Given the description of an element on the screen output the (x, y) to click on. 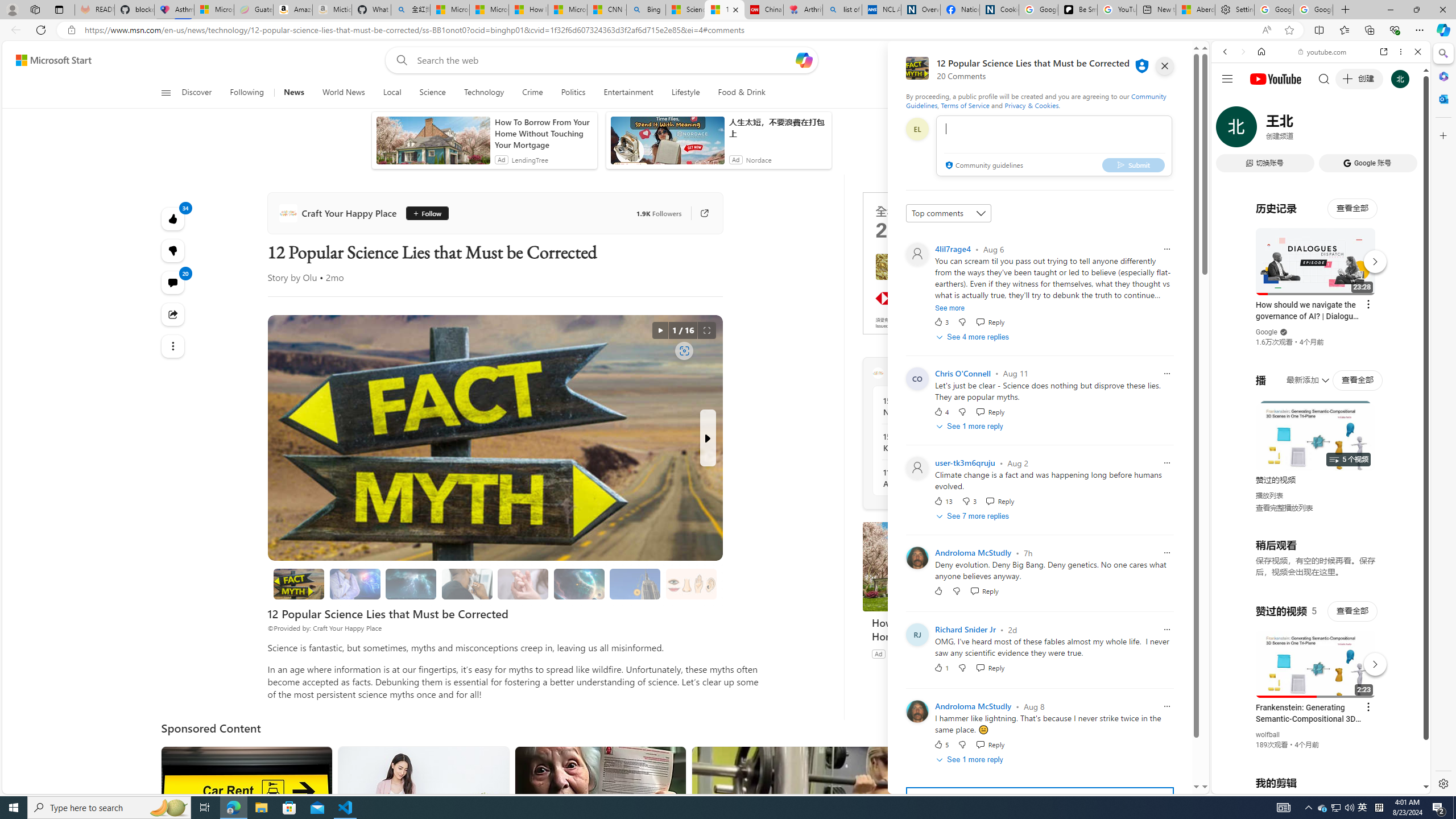
#you (1315, 659)
LendingTree (907, 653)
Knuckle Cracking and Arthritis (522, 583)
Food & Drink (737, 92)
YouTube (1315, 655)
Trailer #2 [HD] (1320, 336)
Profile Picture (916, 711)
Go to publisher's site (698, 213)
